Given the description of an element on the screen output the (x, y) to click on. 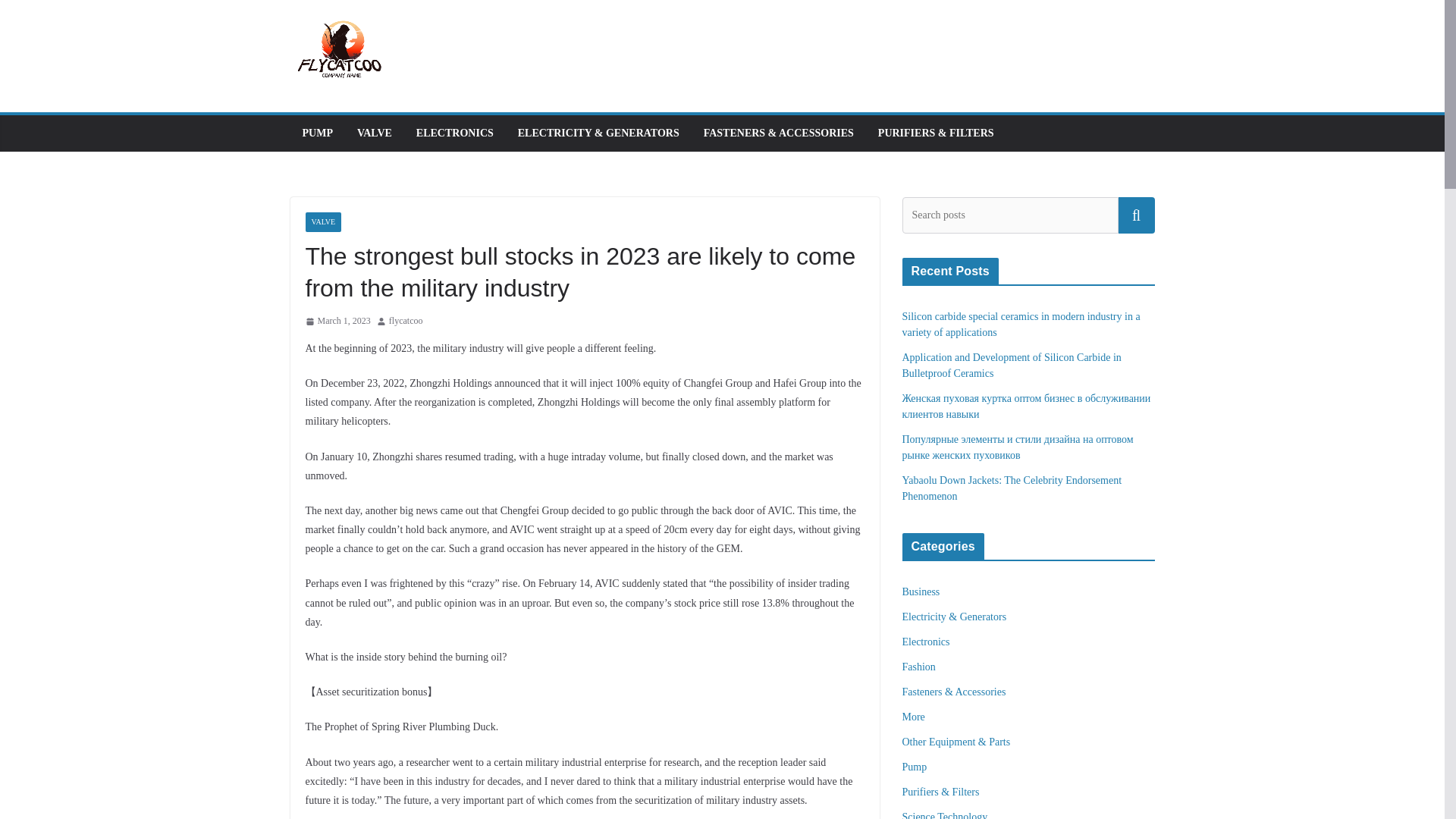
PUMP (316, 133)
VALVE (322, 221)
flycatcoo (405, 321)
Electronics (926, 641)
Science Technology (945, 815)
9:26 am (336, 321)
Business (921, 591)
flycatcoo (405, 321)
More (913, 716)
Pump (914, 767)
VALVE (373, 133)
ELECTRONICS (454, 133)
March 1, 2023 (336, 321)
